Given the description of an element on the screen output the (x, y) to click on. 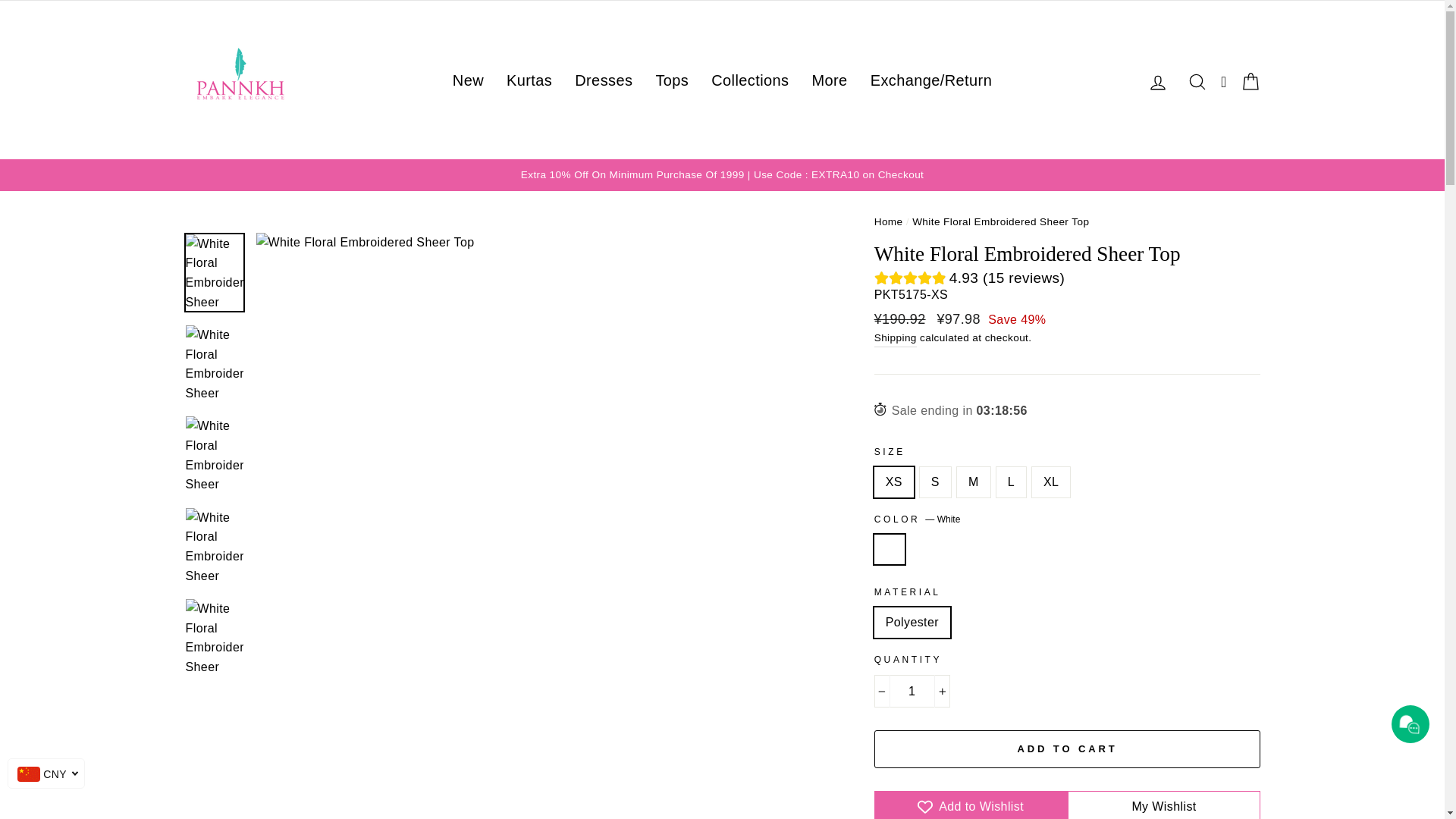
1 (912, 691)
Back to the frontpage (888, 221)
